Given the description of an element on the screen output the (x, y) to click on. 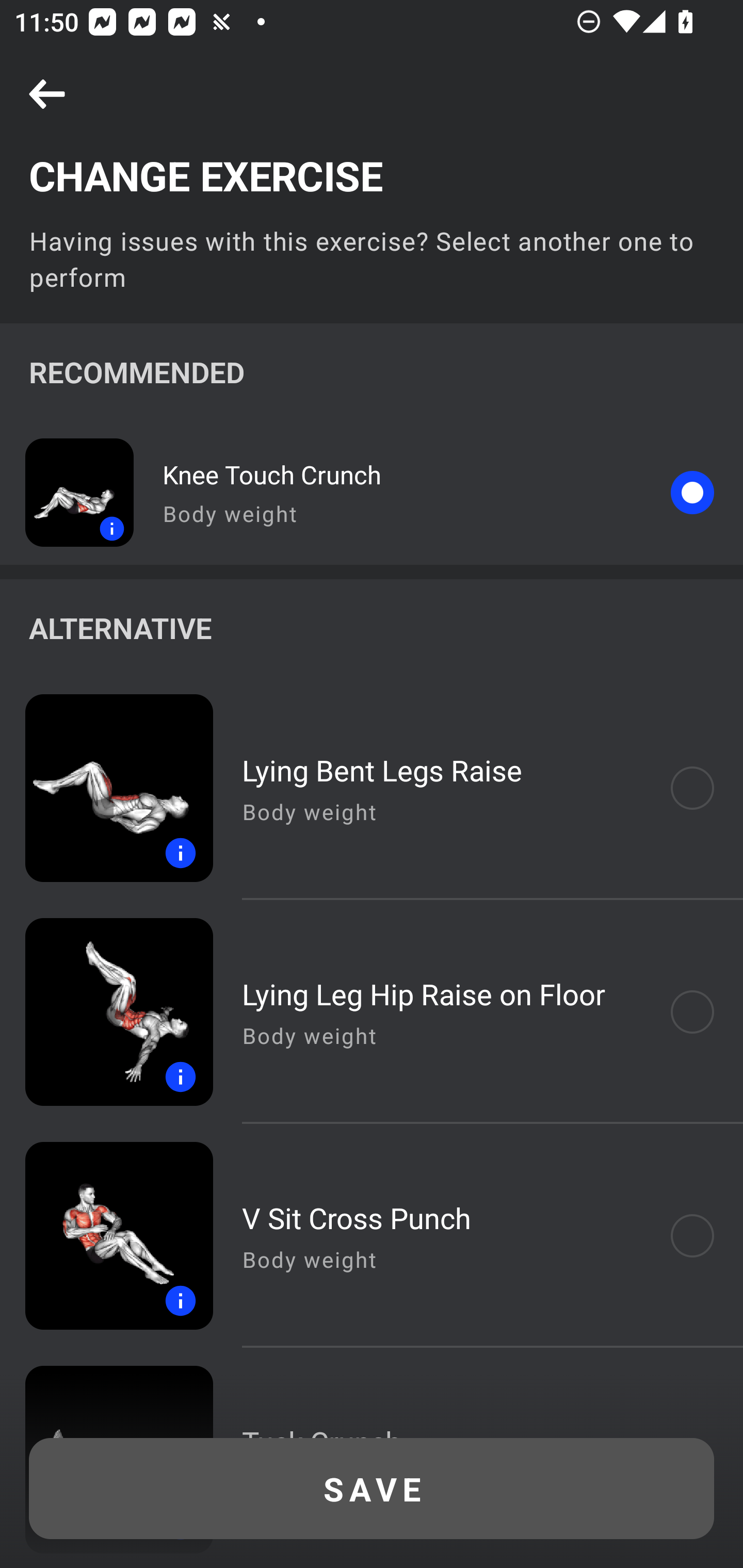
Navigation icon (46, 94)
details Knee Touch Crunch Body weight (371, 492)
details (66, 492)
details Lying Bent Legs Raise Body weight (371, 787)
details (106, 787)
details Lying Leg Hip Raise on Floor Body weight (371, 1012)
details (106, 1012)
details V Sit Cross Punch Body weight (371, 1236)
details (106, 1236)
SAVE (371, 1488)
